Given the description of an element on the screen output the (x, y) to click on. 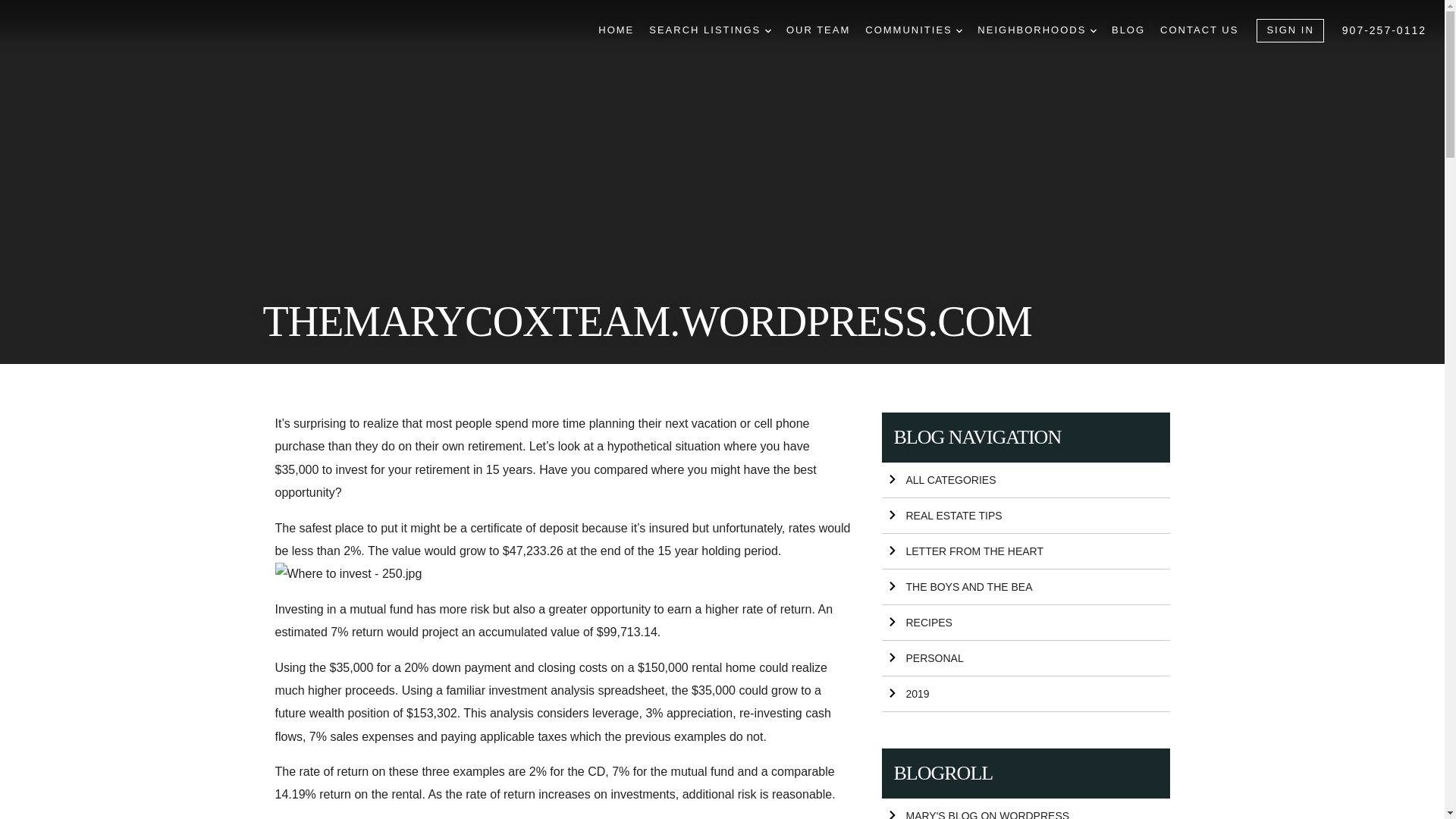
DROPDOWN ARROW (1093, 30)
907-257-0112 (1384, 29)
DROPDOWN ARROW (959, 30)
COMMUNITIES DROPDOWN ARROW (913, 30)
OUR TEAM (818, 30)
NEIGHBORHOODS DROPDOWN ARROW (1036, 30)
BLOG (1128, 30)
SEARCH LISTINGS DROPDOWN ARROW (710, 30)
CONTACT US (1199, 30)
DROPDOWN ARROW (768, 30)
